Given the description of an element on the screen output the (x, y) to click on. 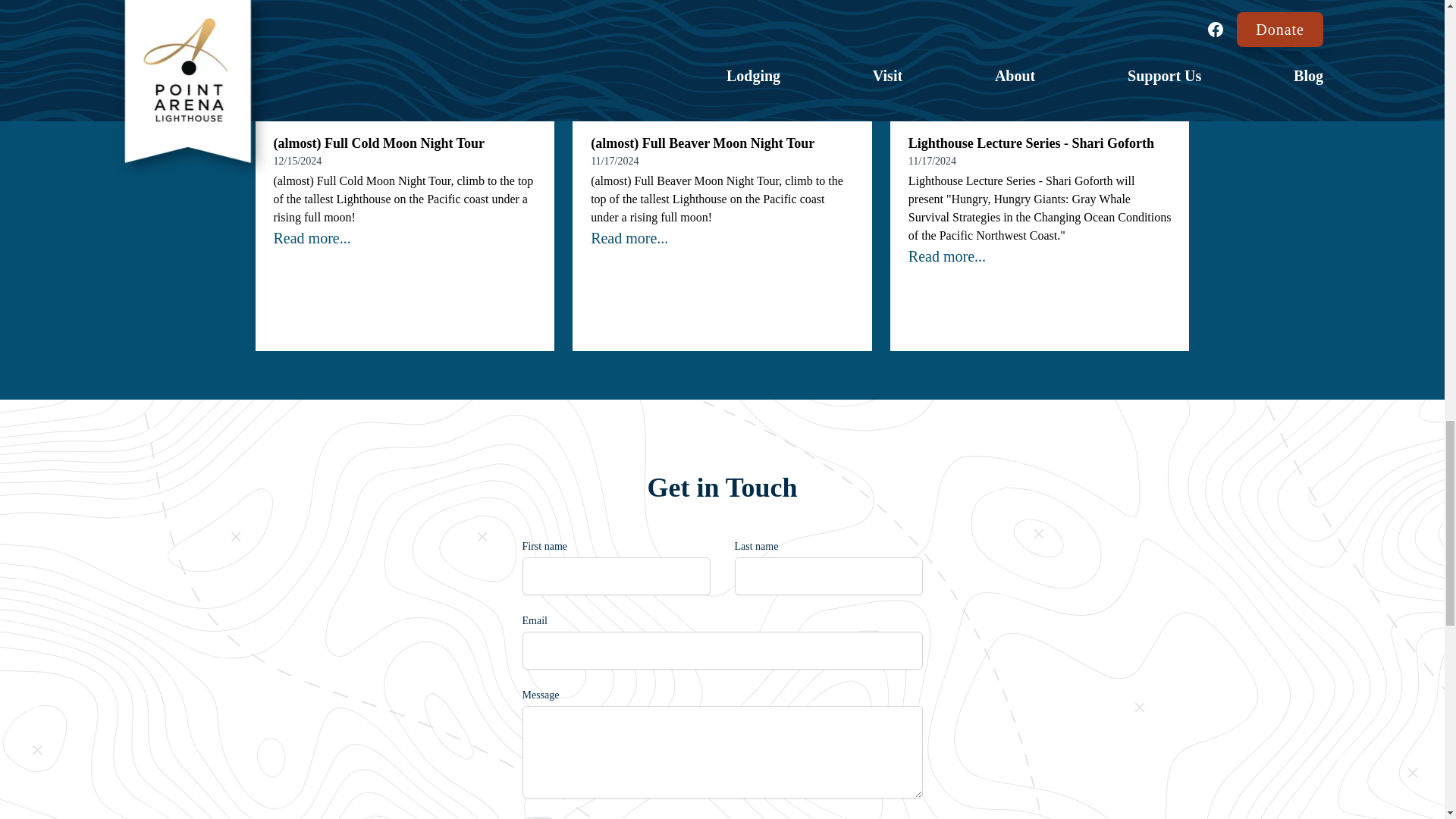
Agree to policies (537, 817)
